Given the description of an element on the screen output the (x, y) to click on. 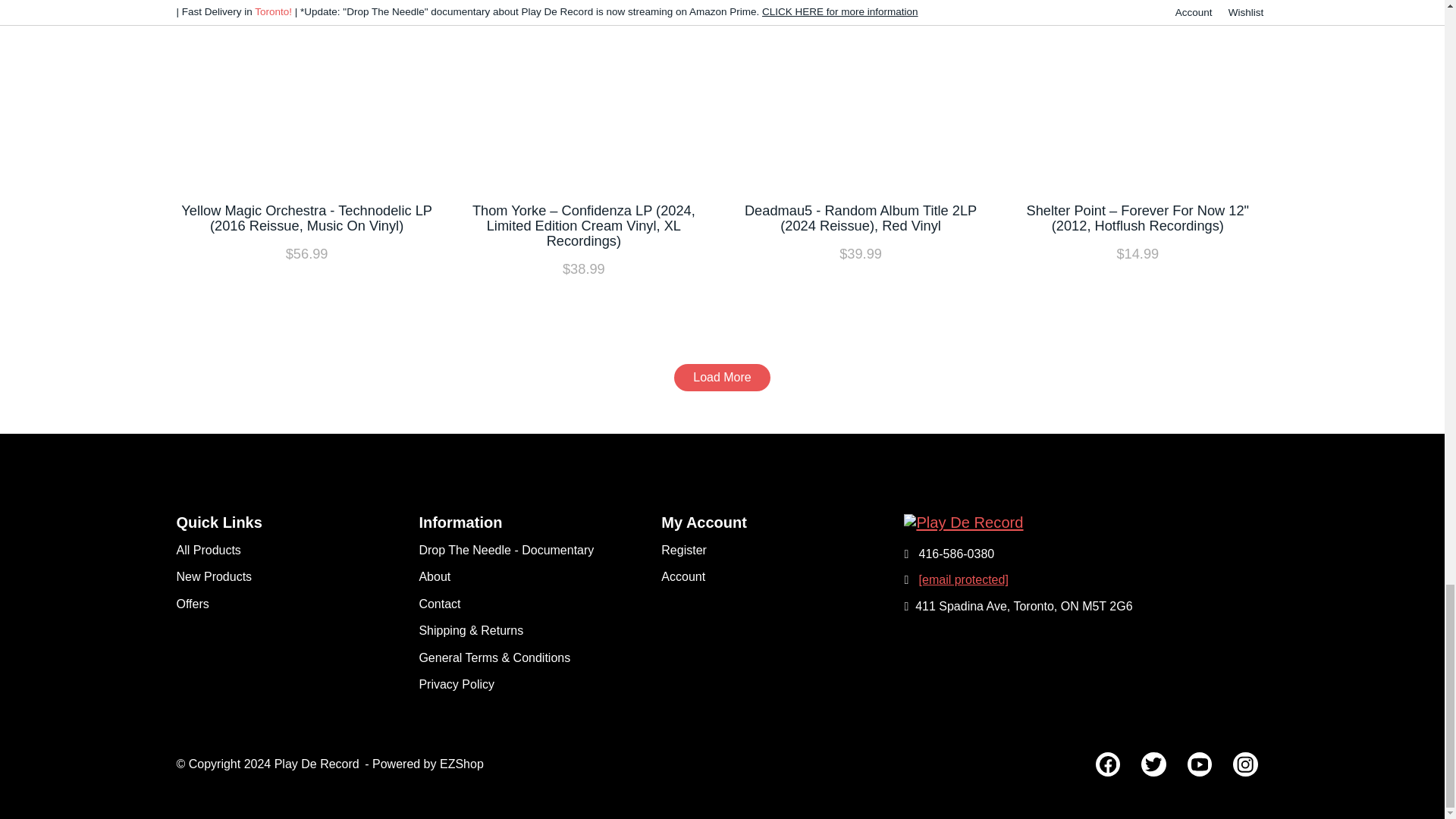
Load More (722, 377)
